Given the description of an element on the screen output the (x, y) to click on. 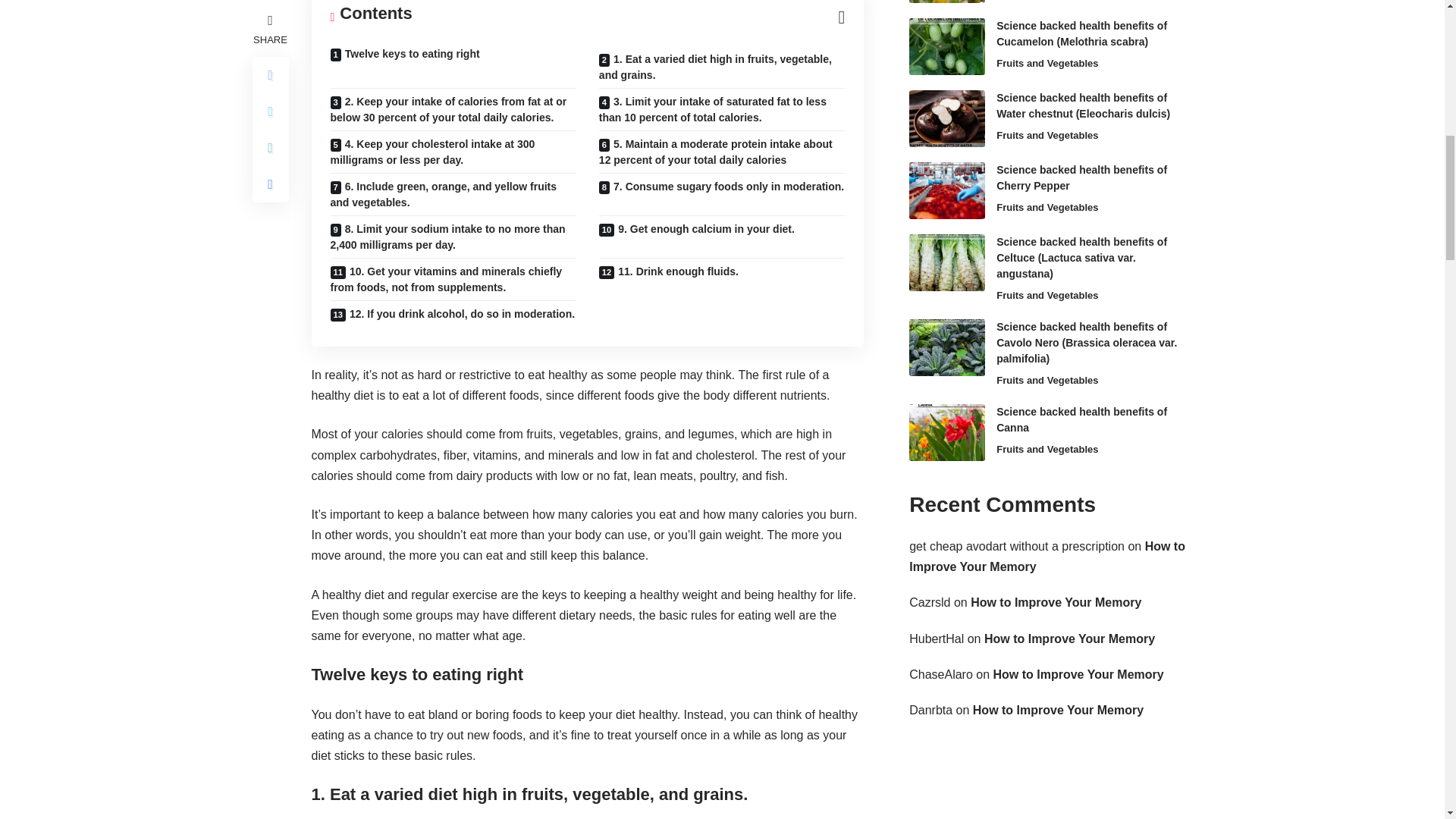
Science backed health benefits of Cherry Pepper (946, 190)
